Given the description of an element on the screen output the (x, y) to click on. 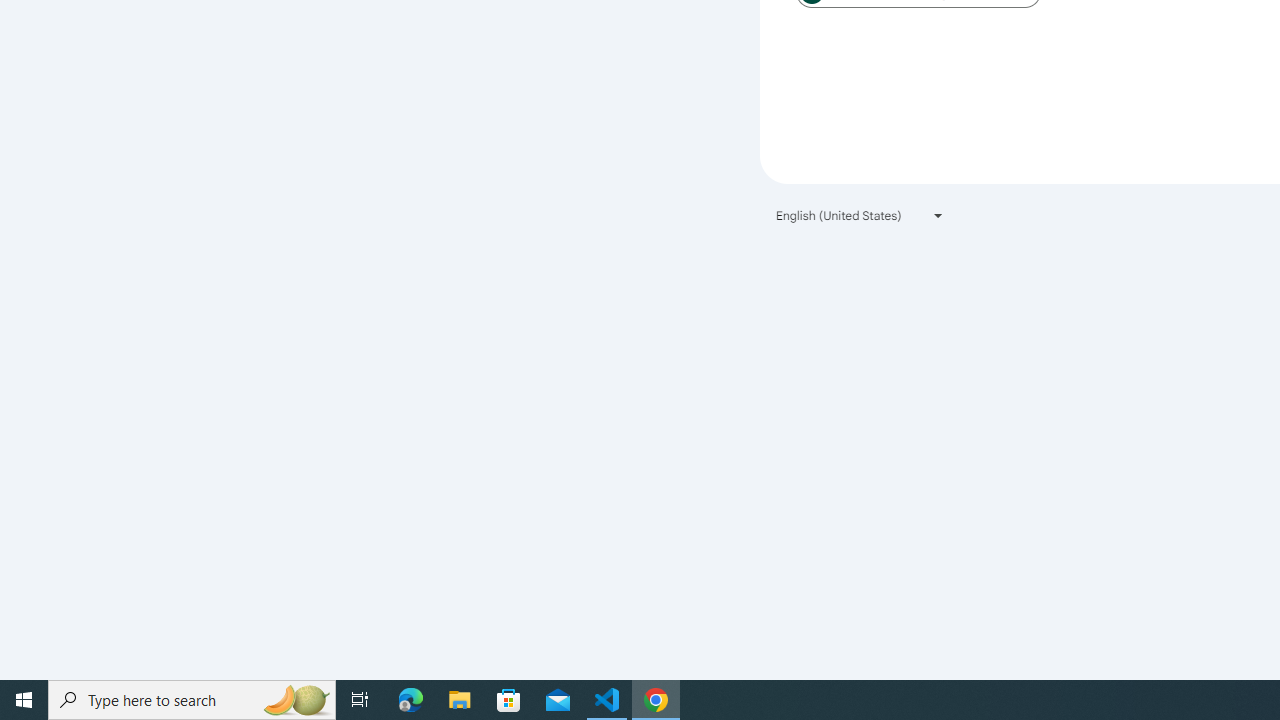
English (United States) (860, 214)
